Given the description of an element on the screen output the (x, y) to click on. 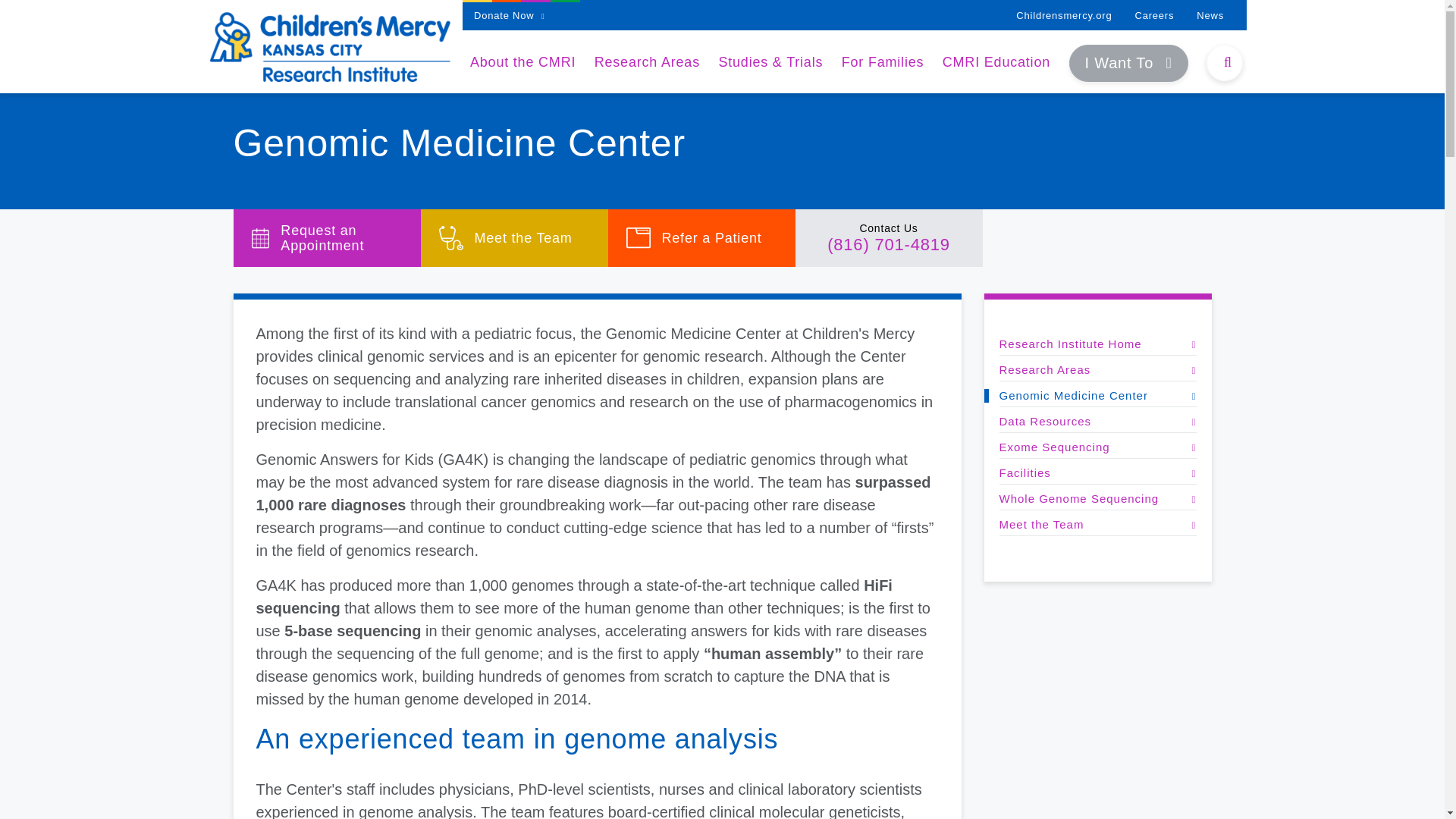
Research Areas (647, 61)
CMRI Education (995, 61)
News (1210, 15)
For Families (882, 61)
For Families (882, 61)
News (1210, 15)
Careers (1153, 15)
Childrensmercy.org (1064, 15)
Donate Now (509, 15)
Donate Now (509, 15)
